Given the description of an element on the screen output the (x, y) to click on. 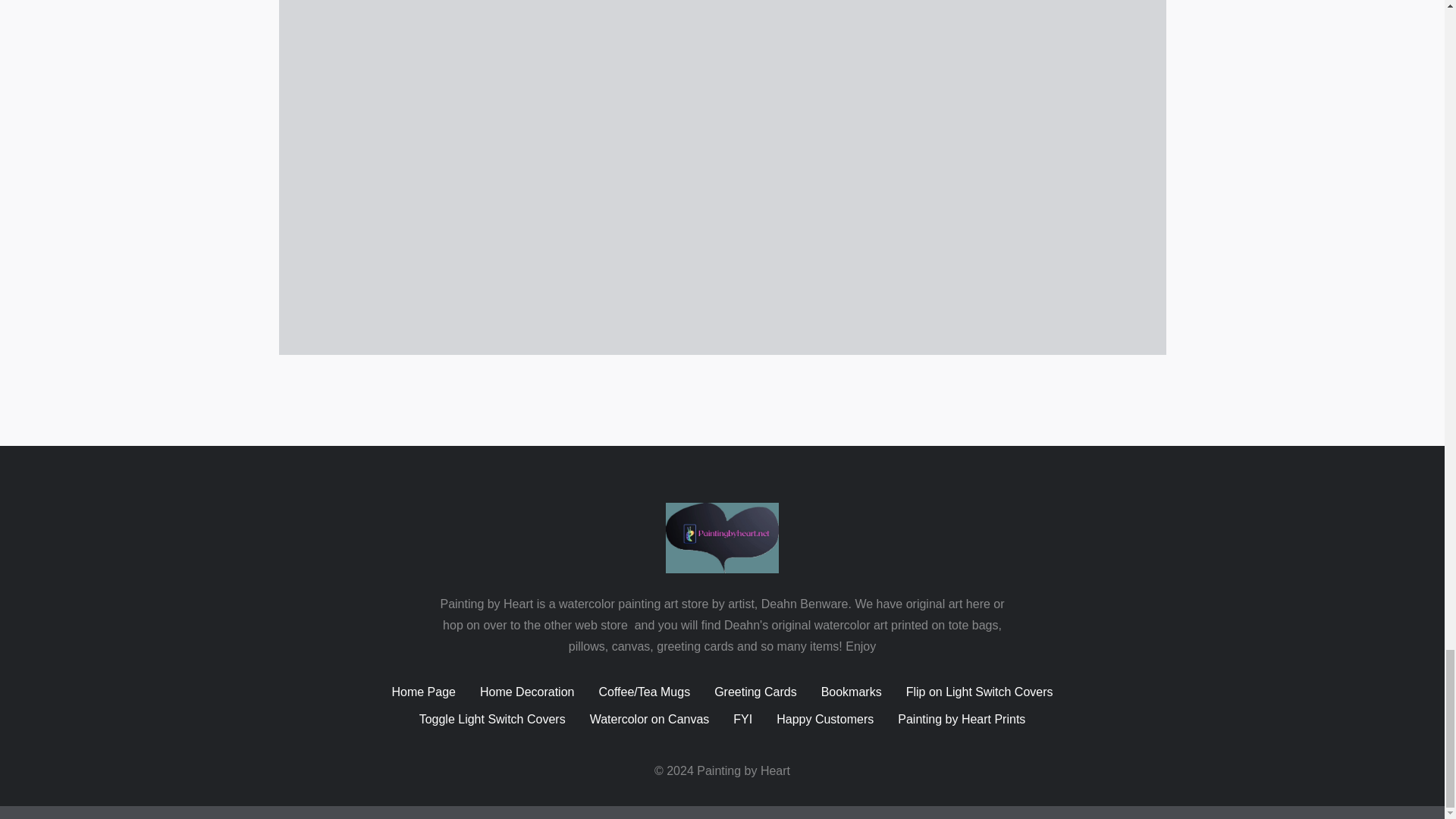
Watercolor on Canvas (649, 719)
Home Decoration (527, 691)
Bookmarks (851, 691)
Toggle Light Switch Covers (492, 719)
Greeting Cards (755, 691)
Flip on Light Switch Covers (978, 691)
Home Page (423, 691)
